Given the description of an element on the screen output the (x, y) to click on. 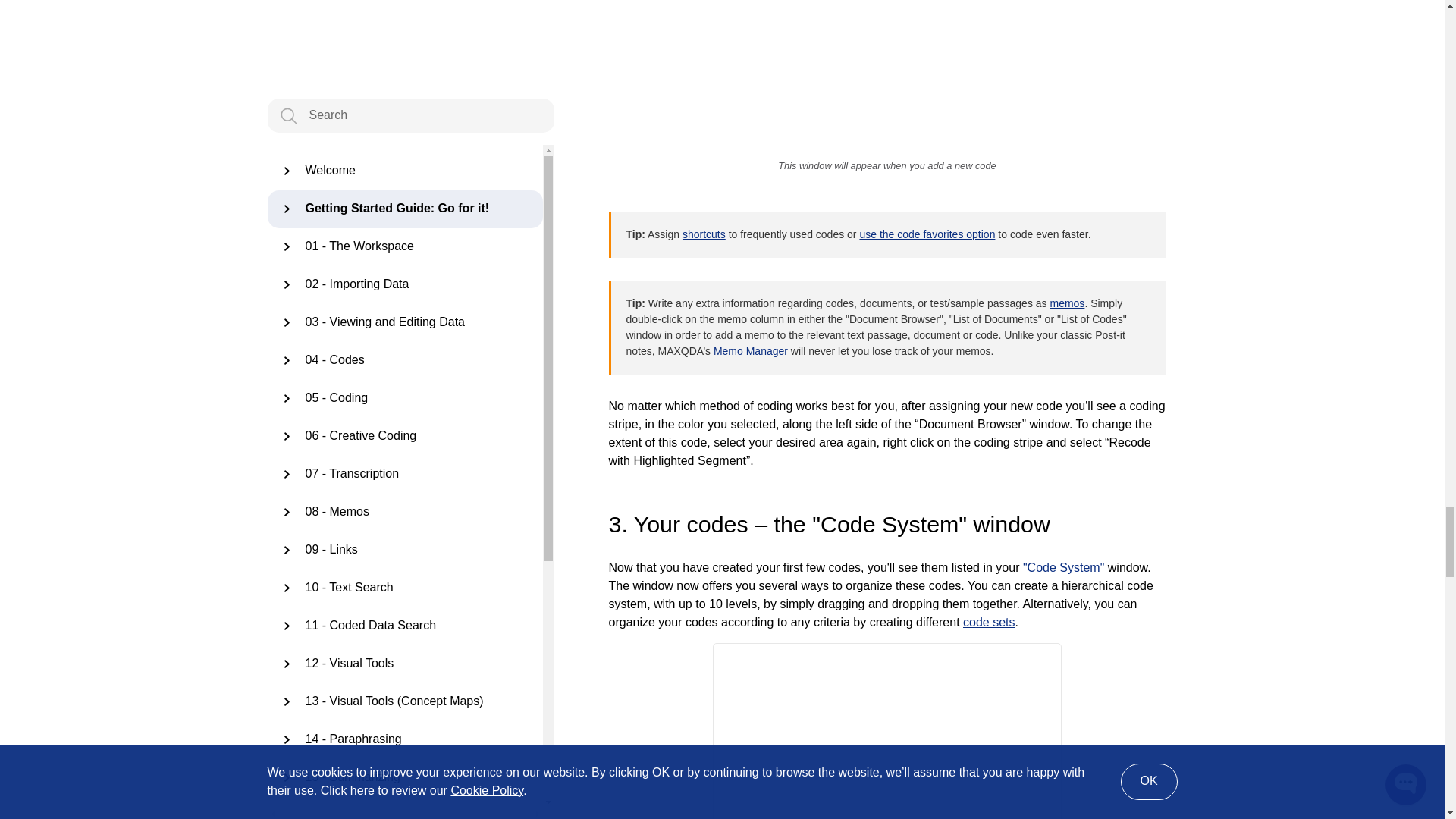
This window will appear when you add a new code (887, 75)
